Given the description of an element on the screen output the (x, y) to click on. 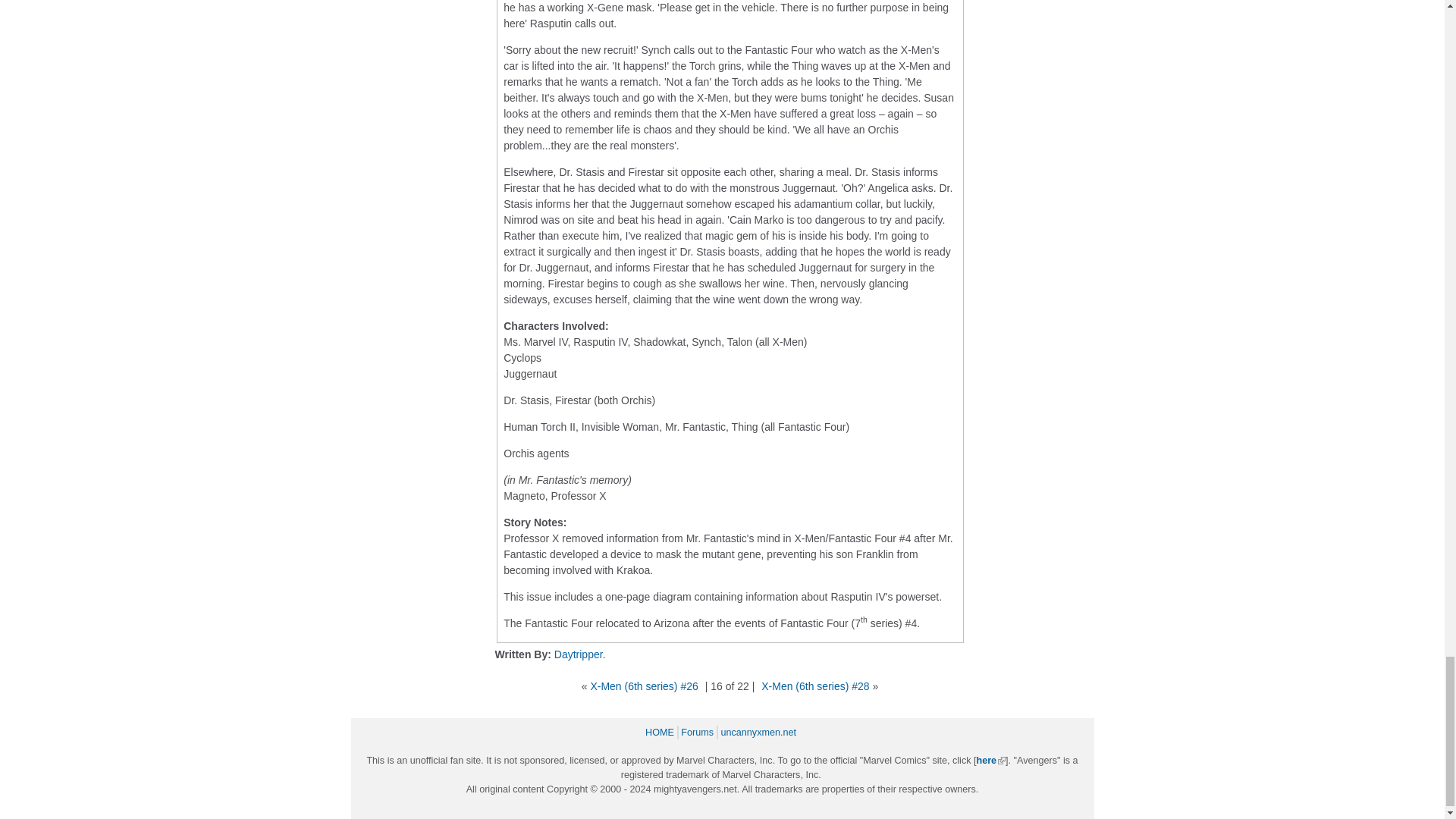
Daytripper (578, 654)
uncannyxmen.net (759, 732)
HOME (661, 732)
Forums (699, 732)
